Given the description of an element on the screen output the (x, y) to click on. 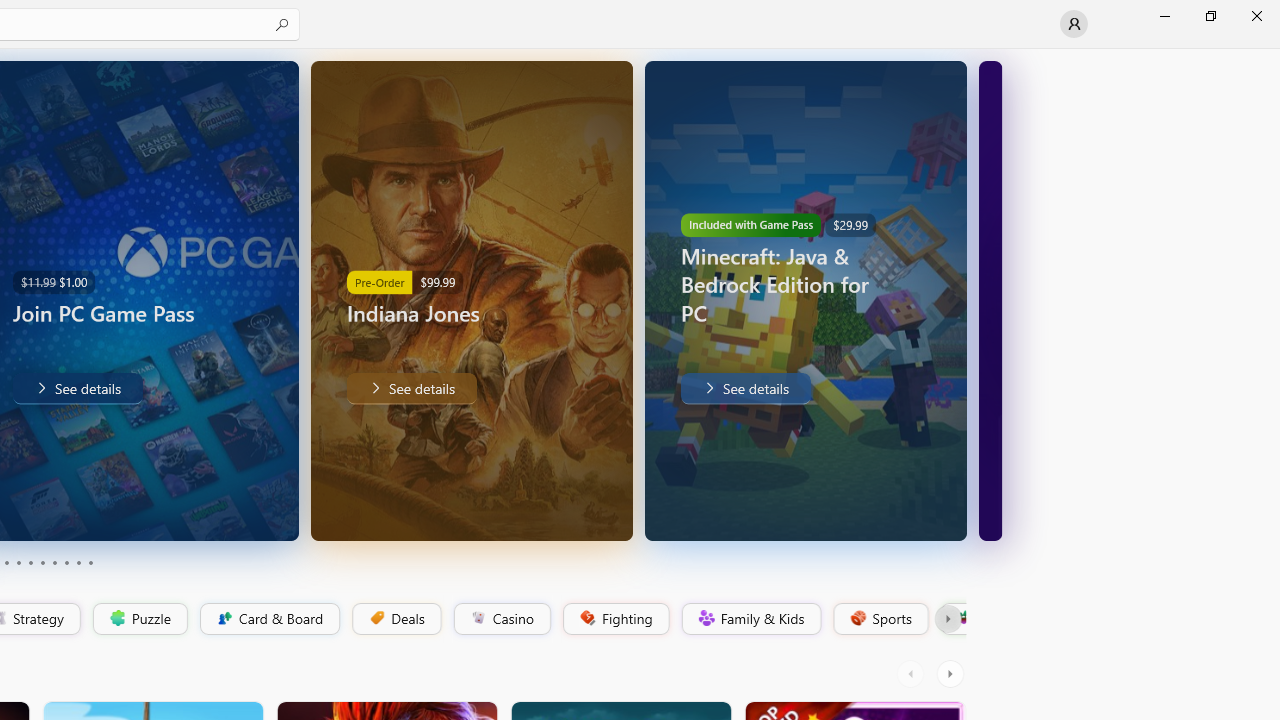
Minimize Microsoft Store (1164, 15)
Page 5 (29, 562)
AutomationID: RightScrollButton (952, 673)
Class: Button (947, 619)
Page 8 (65, 562)
Restore Microsoft Store (1210, 15)
Platformer (952, 619)
AutomationID: Image (989, 300)
Family & Kids (750, 619)
Sports (879, 619)
